Given the description of an element on the screen output the (x, y) to click on. 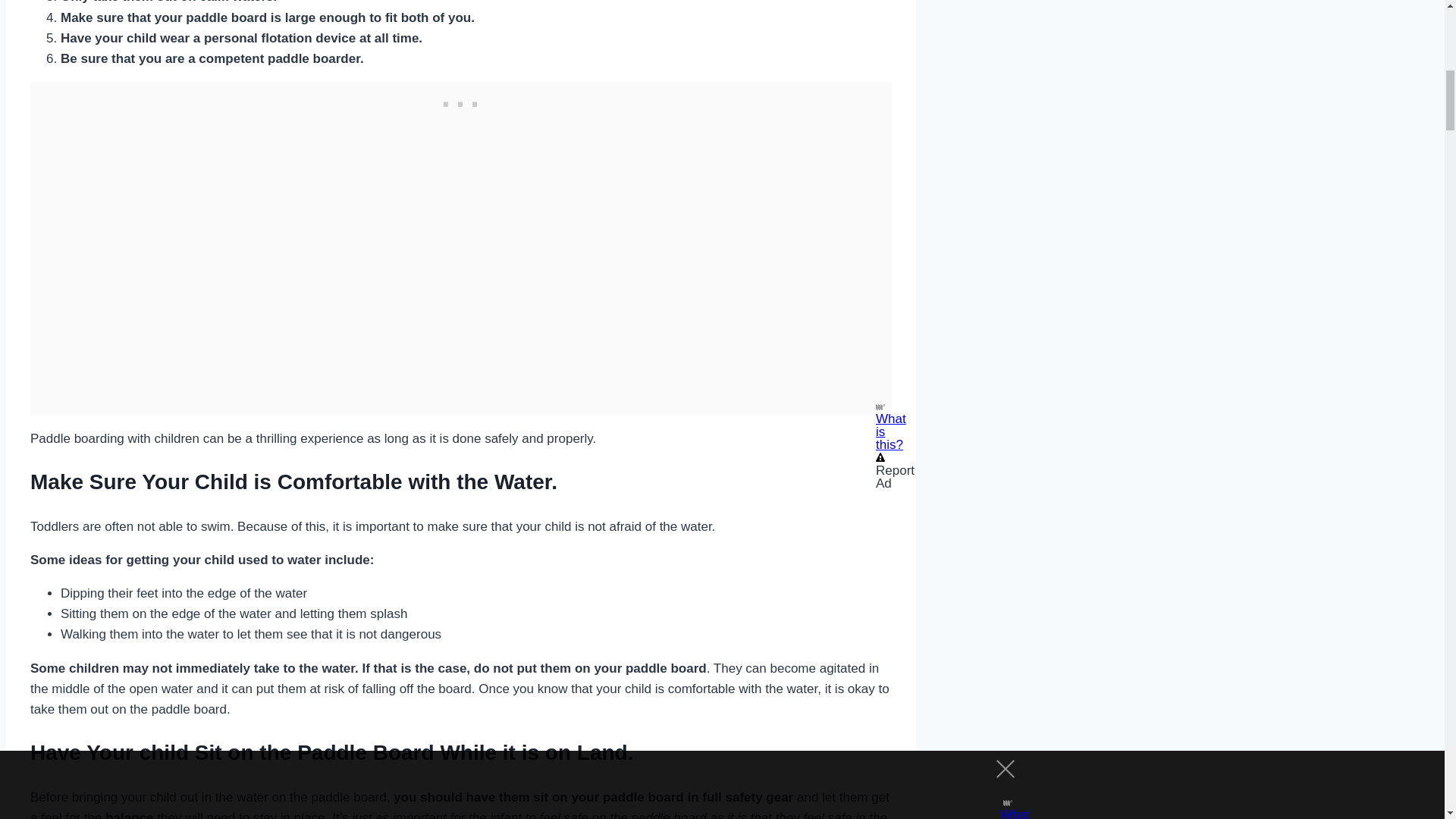
3rd party ad content (460, 100)
